Given the description of an element on the screen output the (x, y) to click on. 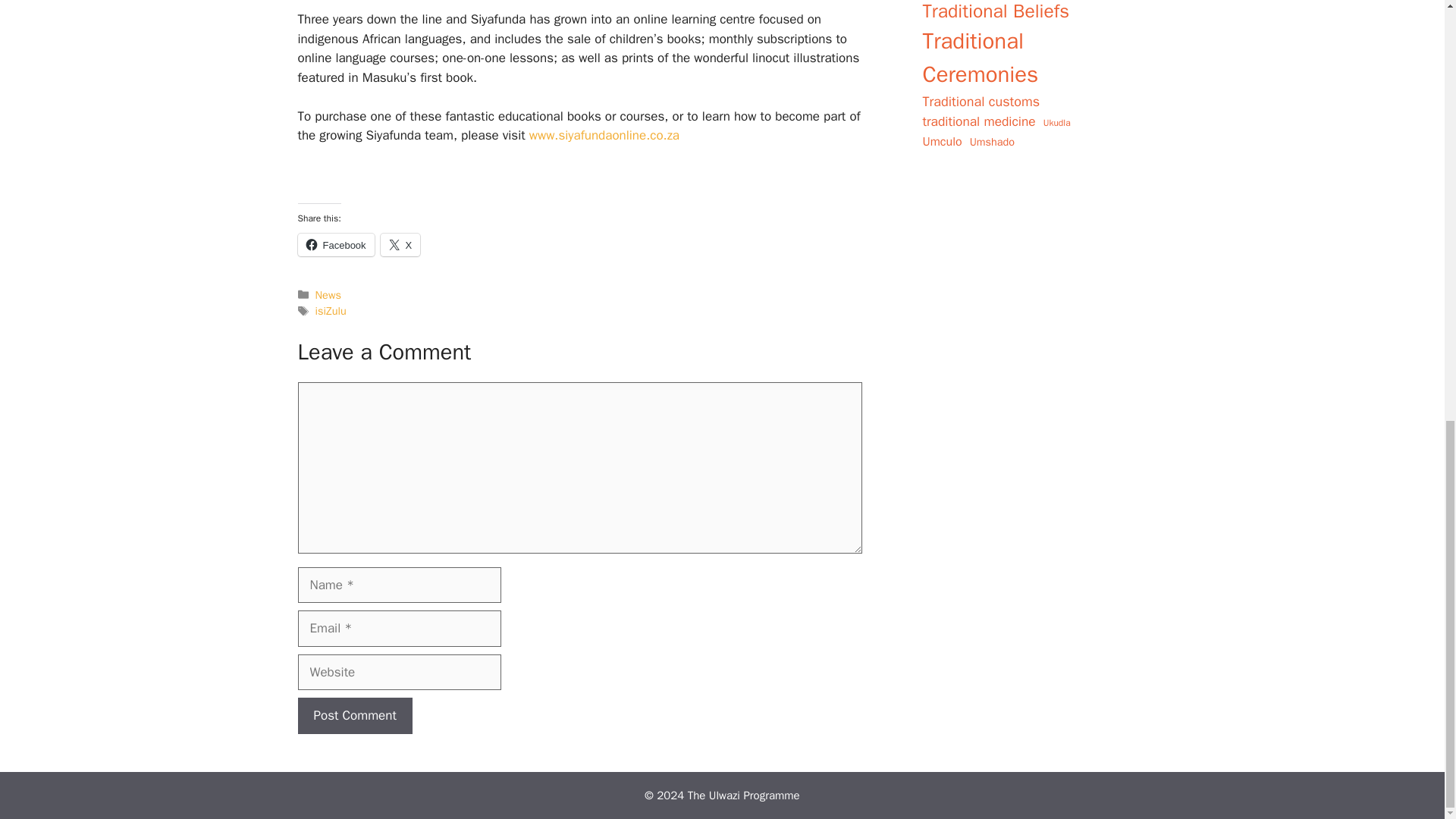
Post Comment (354, 715)
isiZulu (330, 310)
X (400, 244)
Facebook (335, 244)
www.siyafundaonline.co.za (604, 135)
News (327, 295)
Click to share on X (400, 244)
Post Comment (354, 715)
Click to share on Facebook (335, 244)
